Given the description of an element on the screen output the (x, y) to click on. 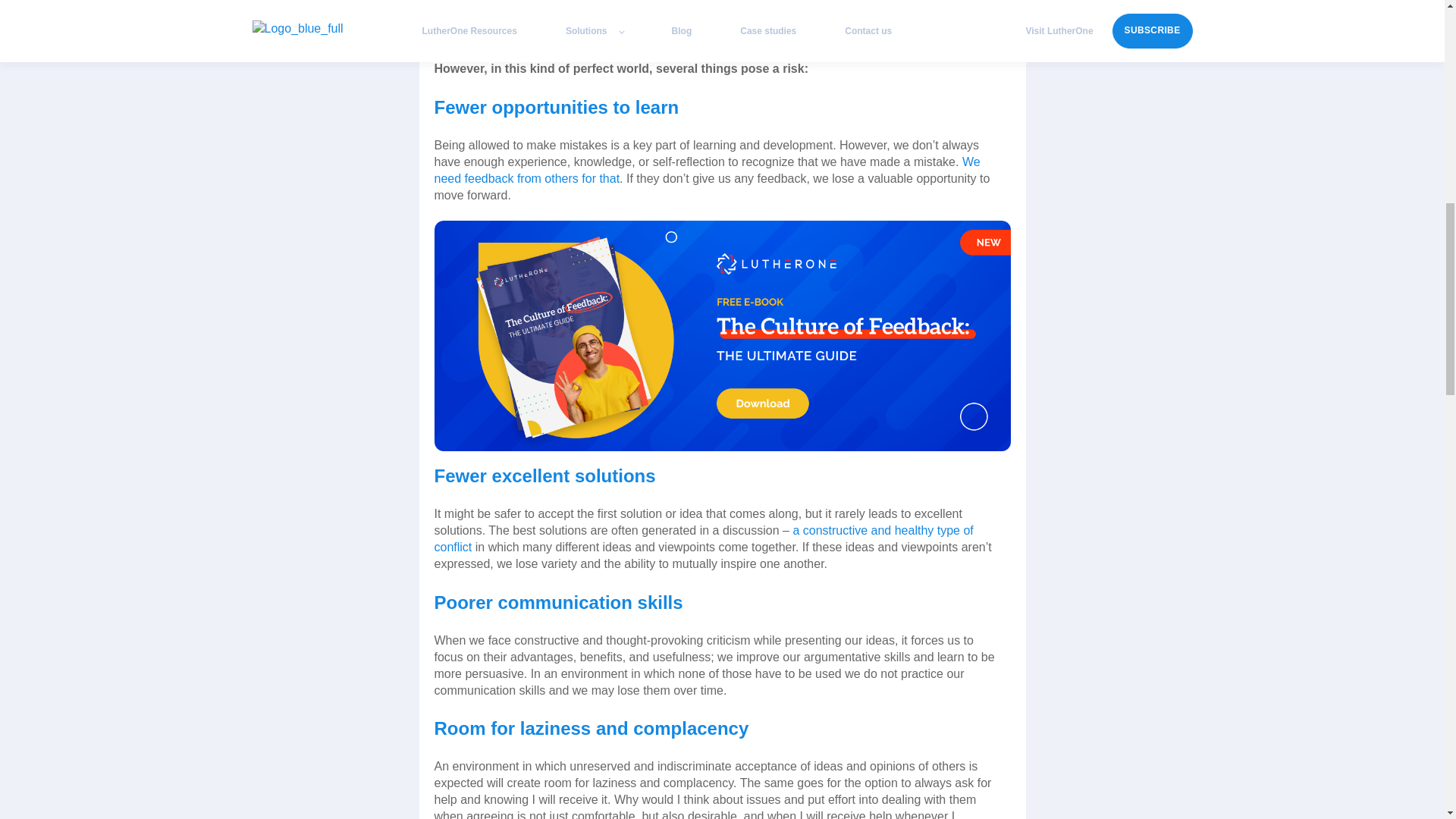
We need feedback from others for that (706, 170)
FREE EBOOK (721, 335)
a constructive and healthy type of conflict (702, 538)
